Given the description of an element on the screen output the (x, y) to click on. 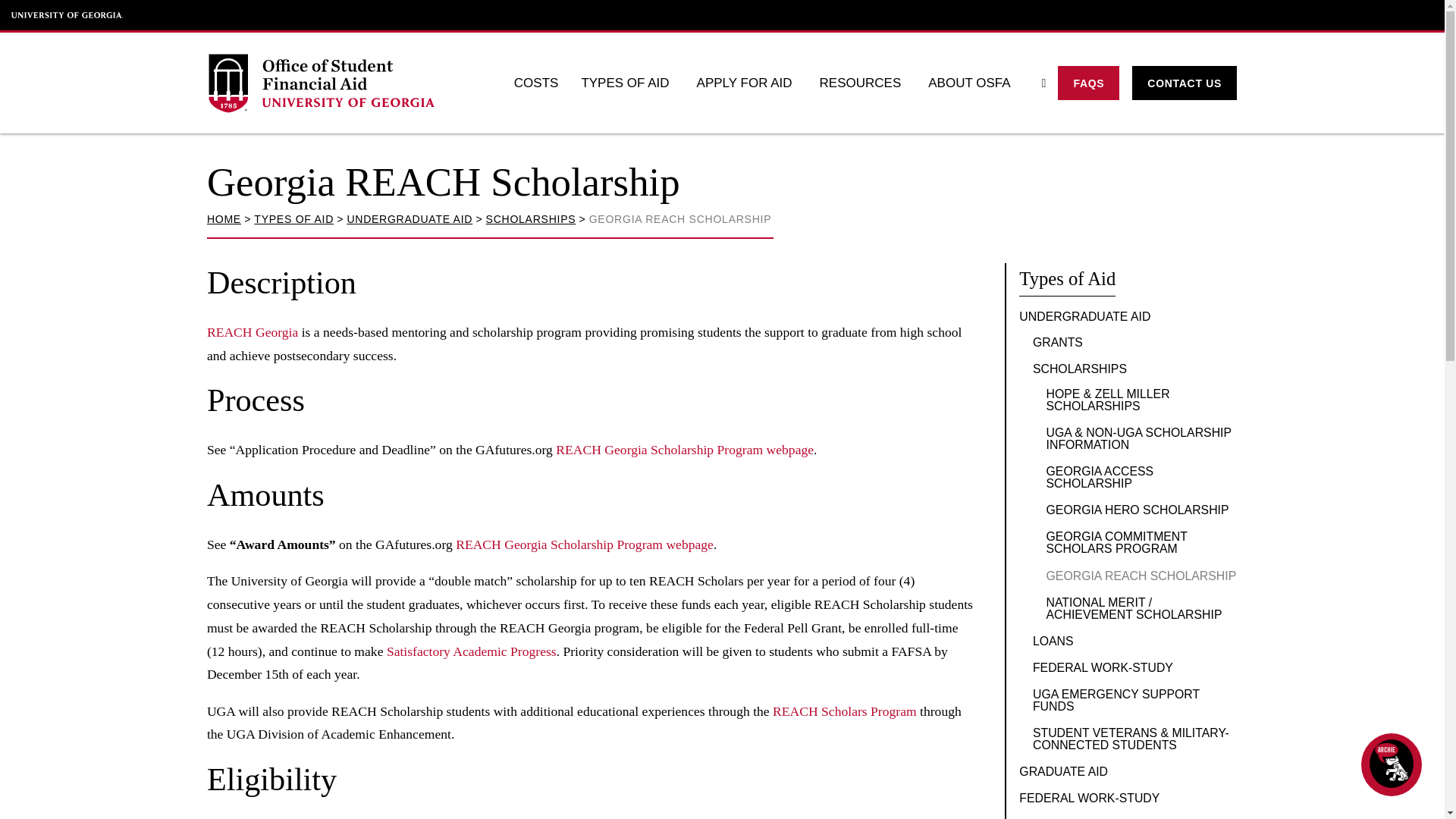
RESOURCES (862, 82)
UNDERGRADUATE AID (408, 218)
Types of Aid (1067, 279)
REACH Georgia Scholarship Program webpage (584, 544)
University of Georgia (67, 15)
HOME (223, 218)
COSTS (536, 82)
APPLY FOR AID (746, 82)
ABOUT OSFA (971, 82)
TYPES OF AID (293, 218)
REACH Georgia Scholarship Program webpage (684, 449)
Satisfactory Academic Progress (471, 651)
REACH Georgia (252, 331)
REACH Scholars Program (845, 711)
CONTACT US (1184, 82)
